Given the description of an element on the screen output the (x, y) to click on. 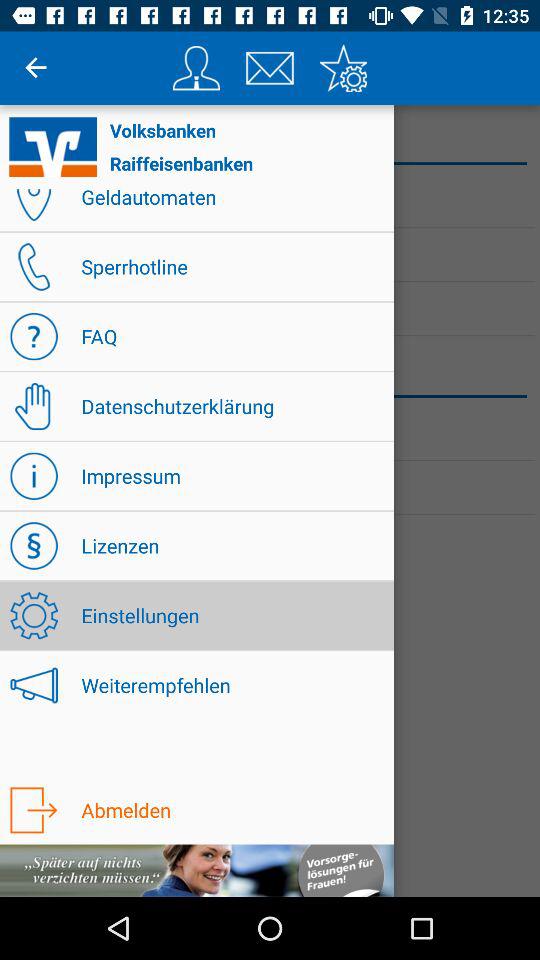
select the icon which is on the top just beside the message icon (195, 68)
